Given the description of an element on the screen output the (x, y) to click on. 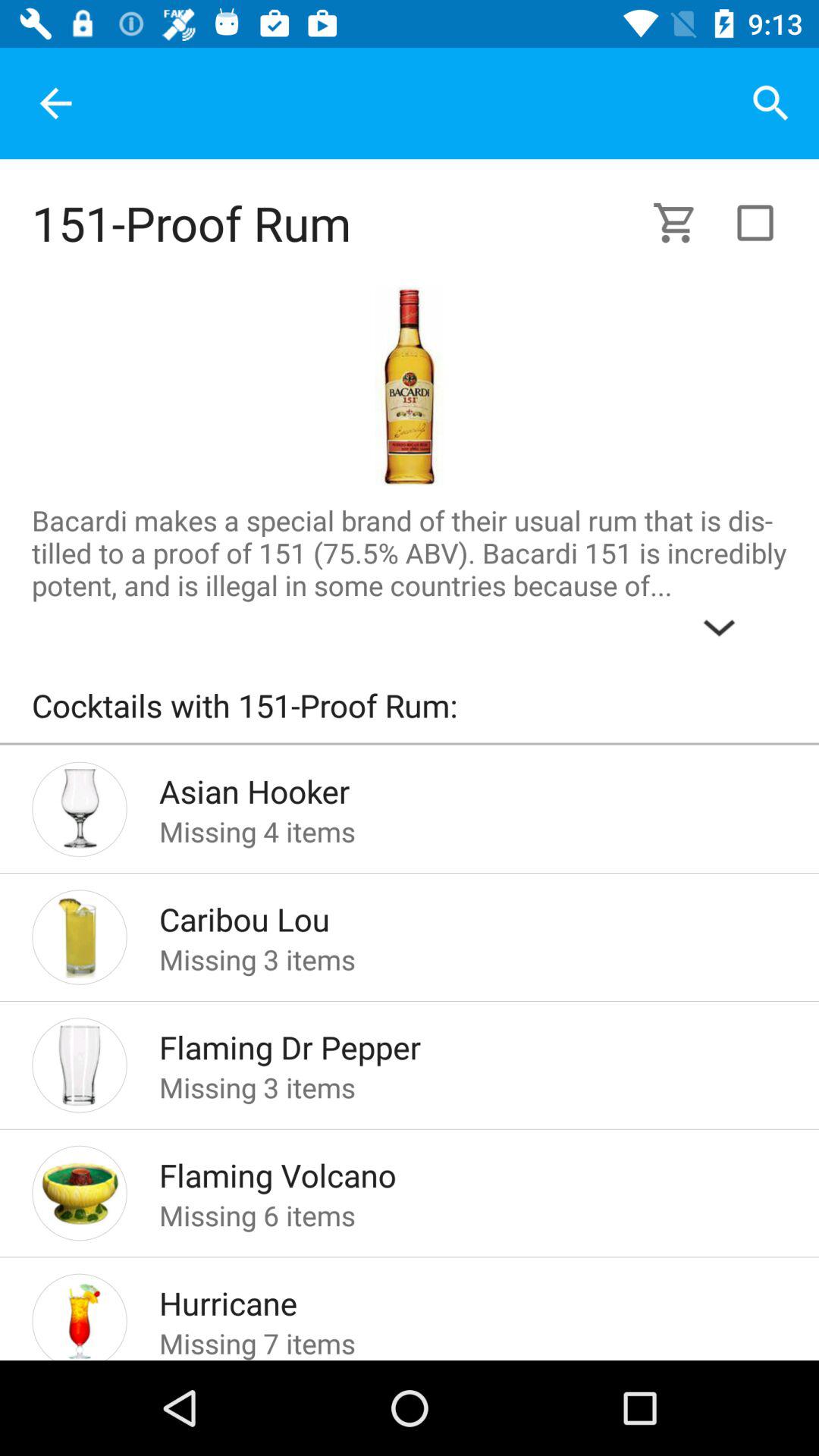
open icon at the top left corner (55, 103)
